Given the description of an element on the screen output the (x, y) to click on. 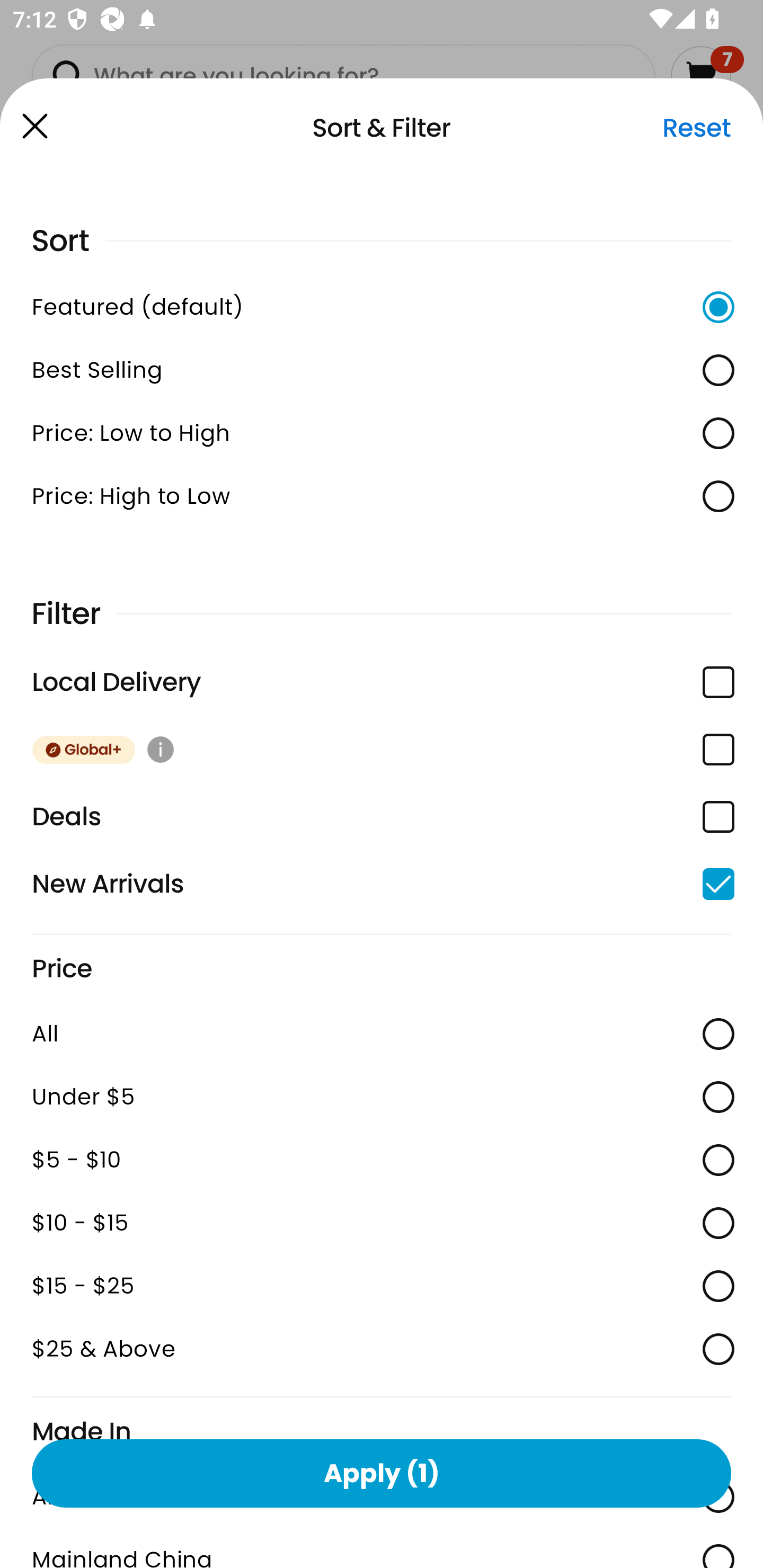
Reset (696, 127)
Apply (1) (381, 1472)
